Given the description of an element on the screen output the (x, y) to click on. 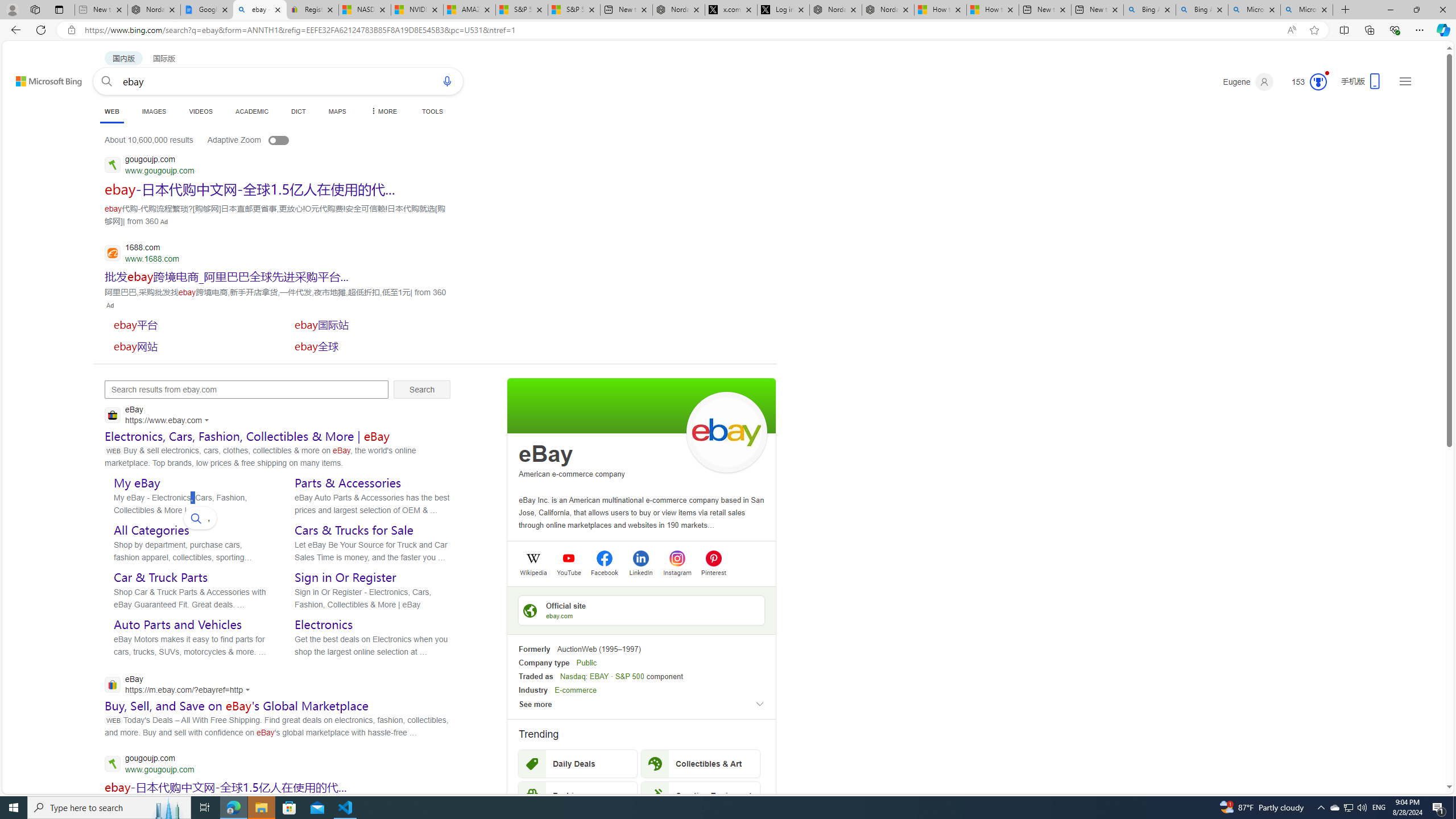
Search more (1423, 753)
Sporting Equipment (701, 795)
x.com/NordaceOfficial (730, 9)
SERP,5704 (249, 189)
Car & Truck Parts (160, 577)
Collectibles & Art (701, 763)
MAPS (336, 111)
